Given the description of an element on the screen output the (x, y) to click on. 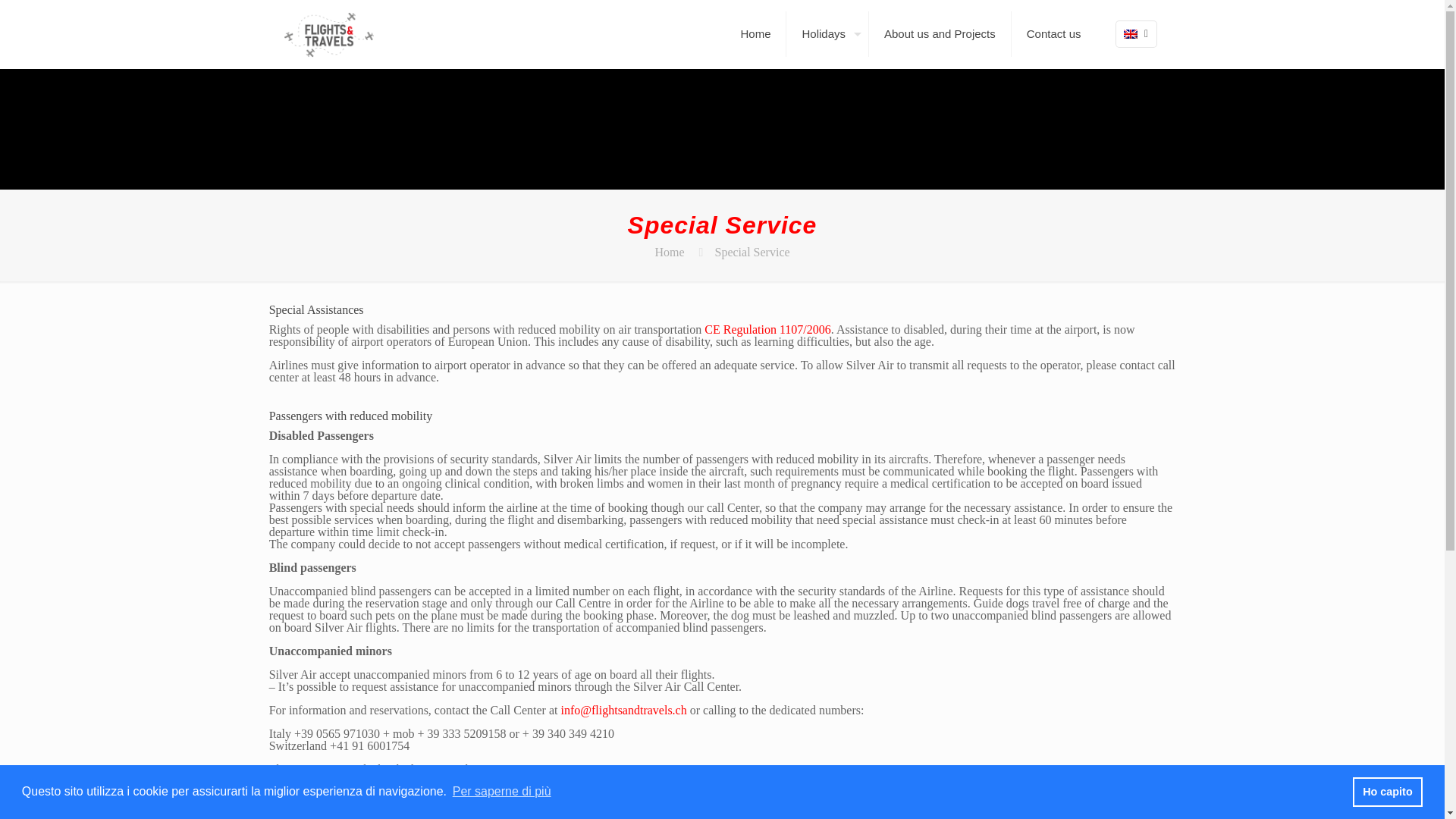
Ho capito (1387, 791)
Home (755, 33)
Holidays (827, 33)
Contact us (1053, 33)
About us and Projects (940, 33)
Silver Air Travels (328, 33)
Home (668, 251)
